Given the description of an element on the screen output the (x, y) to click on. 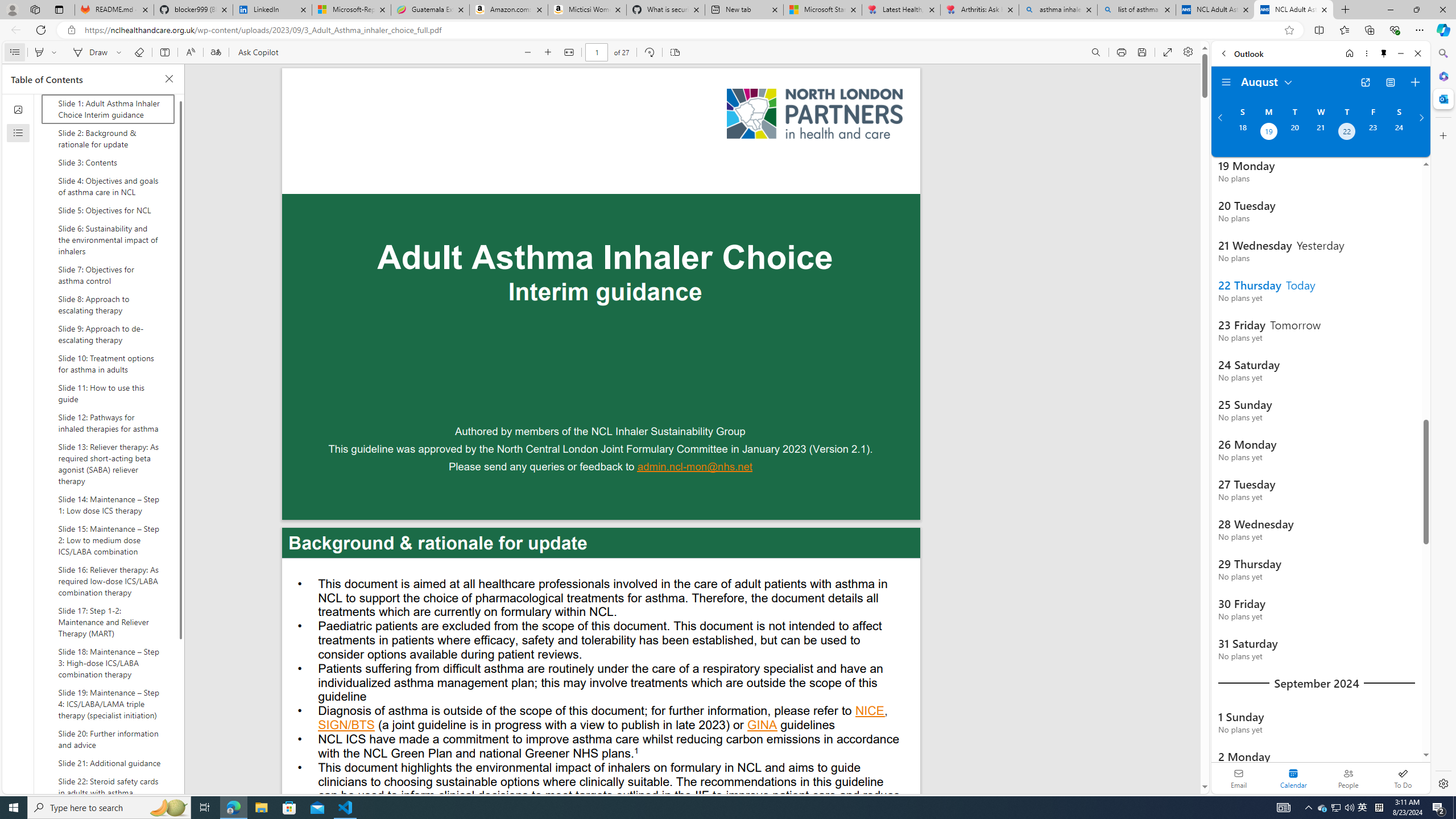
Translate (215, 52)
asthma inhaler - Search (1057, 9)
Contents (14, 52)
Draw (88, 52)
PDF bar (601, 51)
Open in new tab (1365, 82)
